Given the description of an element on the screen output the (x, y) to click on. 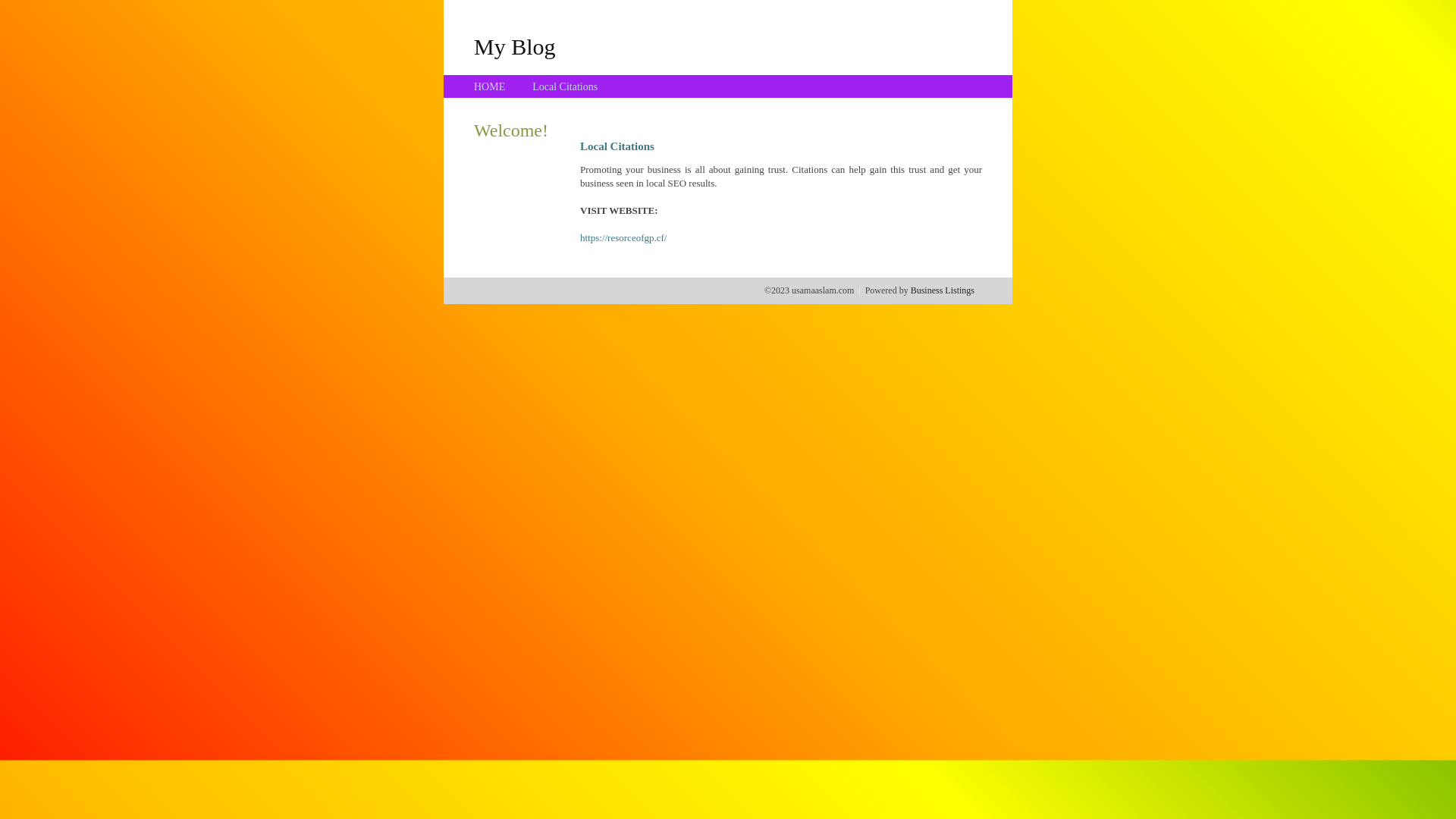
Local Citations Element type: text (564, 86)
https://resorceofgp.cf/ Element type: text (623, 237)
My Blog Element type: text (514, 46)
HOME Element type: text (489, 86)
Business Listings Element type: text (942, 290)
